Given the description of an element on the screen output the (x, y) to click on. 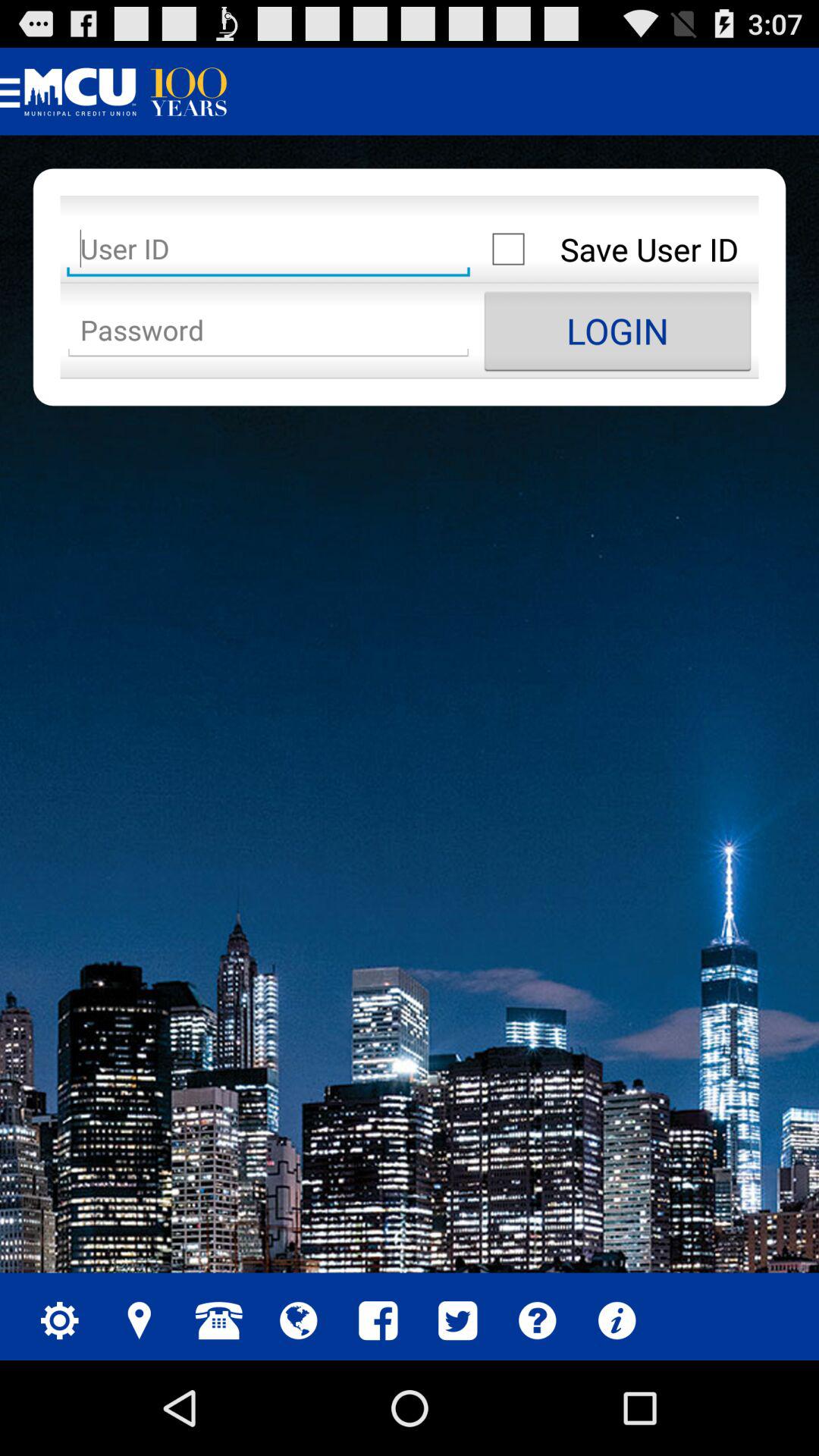
scroll to login item (617, 330)
